Given the description of an element on the screen output the (x, y) to click on. 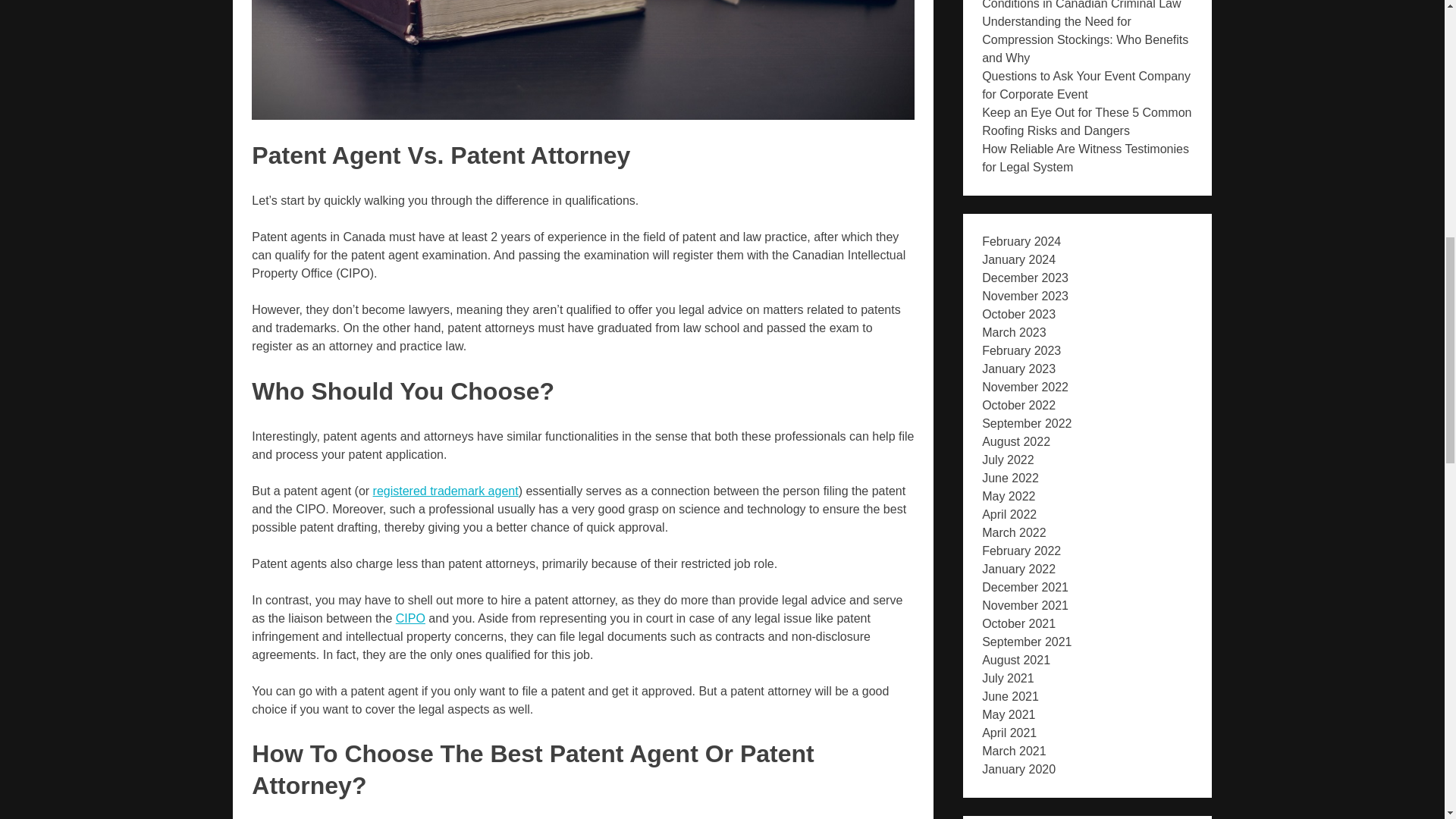
CIPO (410, 617)
registered trademark agent (445, 490)
